Given the description of an element on the screen output the (x, y) to click on. 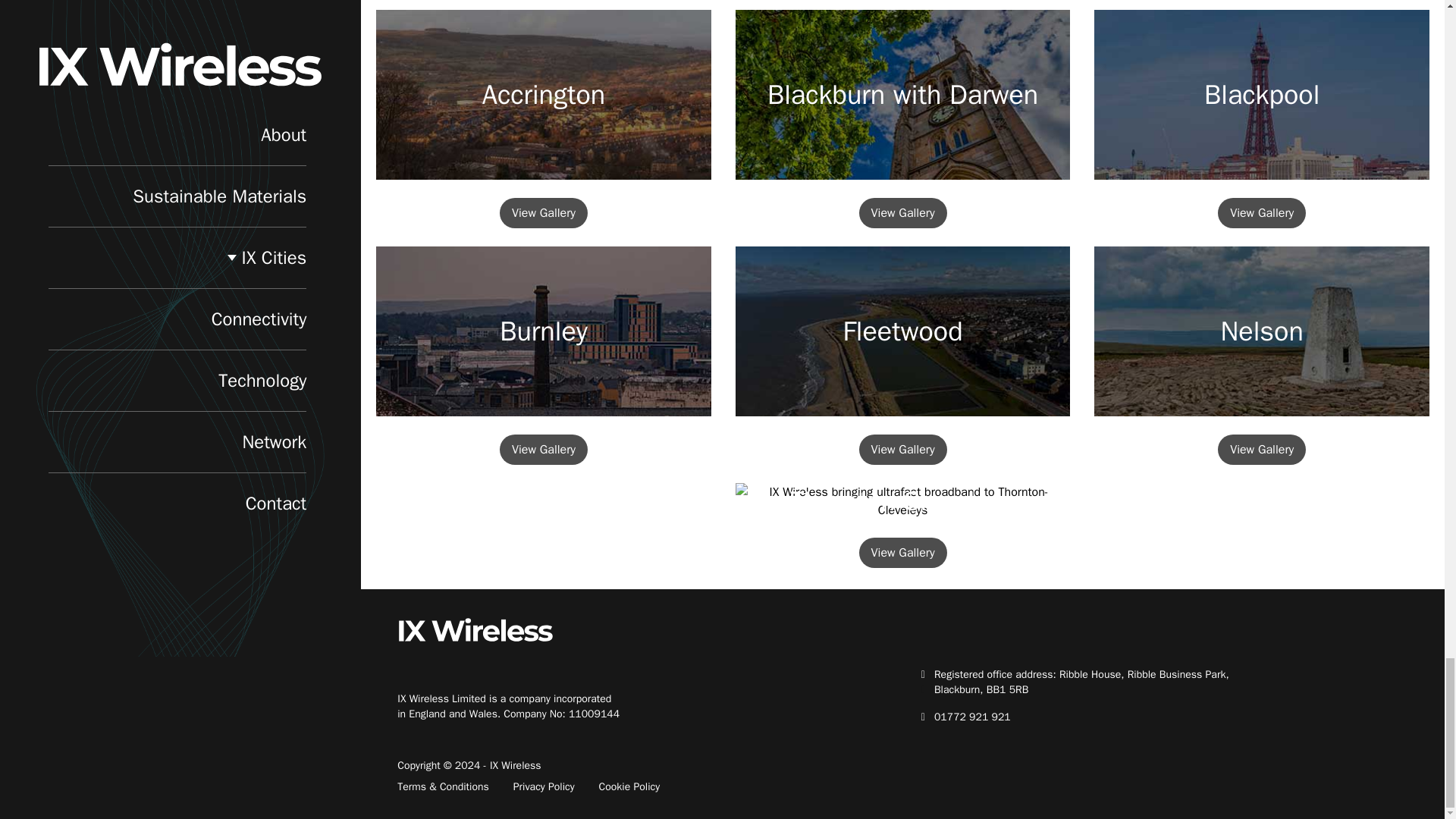
View Gallery (903, 213)
View Gallery (543, 213)
01772 921 921 (972, 716)
View Gallery (903, 552)
View Gallery (903, 449)
Cookie Policy (629, 786)
View Gallery (1261, 213)
Privacy Policy (544, 786)
View Gallery (1261, 449)
View Gallery (543, 449)
